Given the description of an element on the screen output the (x, y) to click on. 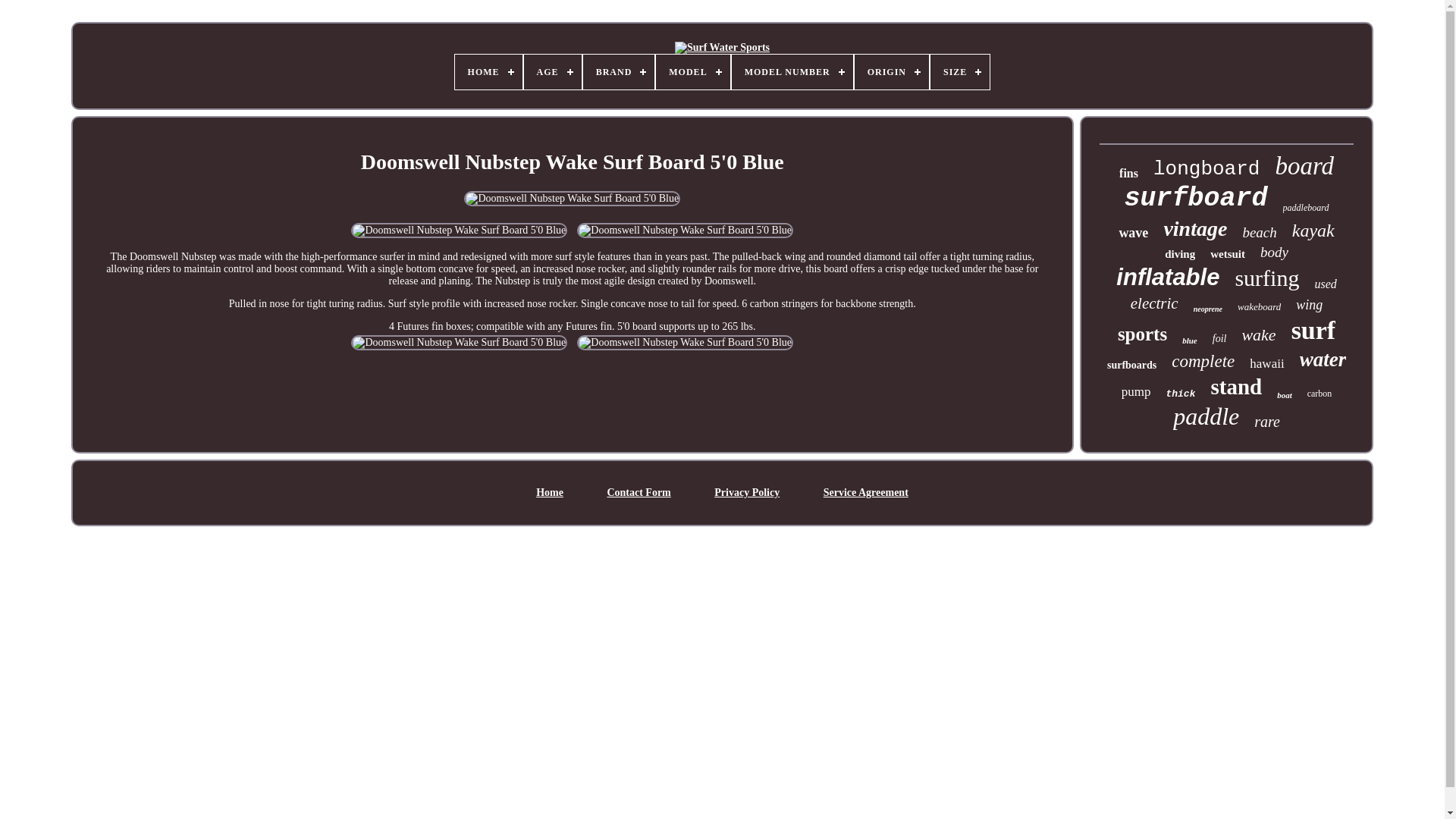
AGE (552, 71)
MODEL (692, 71)
Doomswell Nubstep Wake Surf Board 5'0 Blue (684, 230)
HOME (488, 71)
Doomswell Nubstep Wake Surf Board 5'0 Blue (684, 342)
BRAND (619, 71)
Doomswell Nubstep Wake Surf Board 5'0 Blue (571, 198)
Doomswell Nubstep Wake Surf Board 5'0 Blue (458, 230)
Doomswell Nubstep Wake Surf Board 5'0 Blue (458, 342)
